Given the description of an element on the screen output the (x, y) to click on. 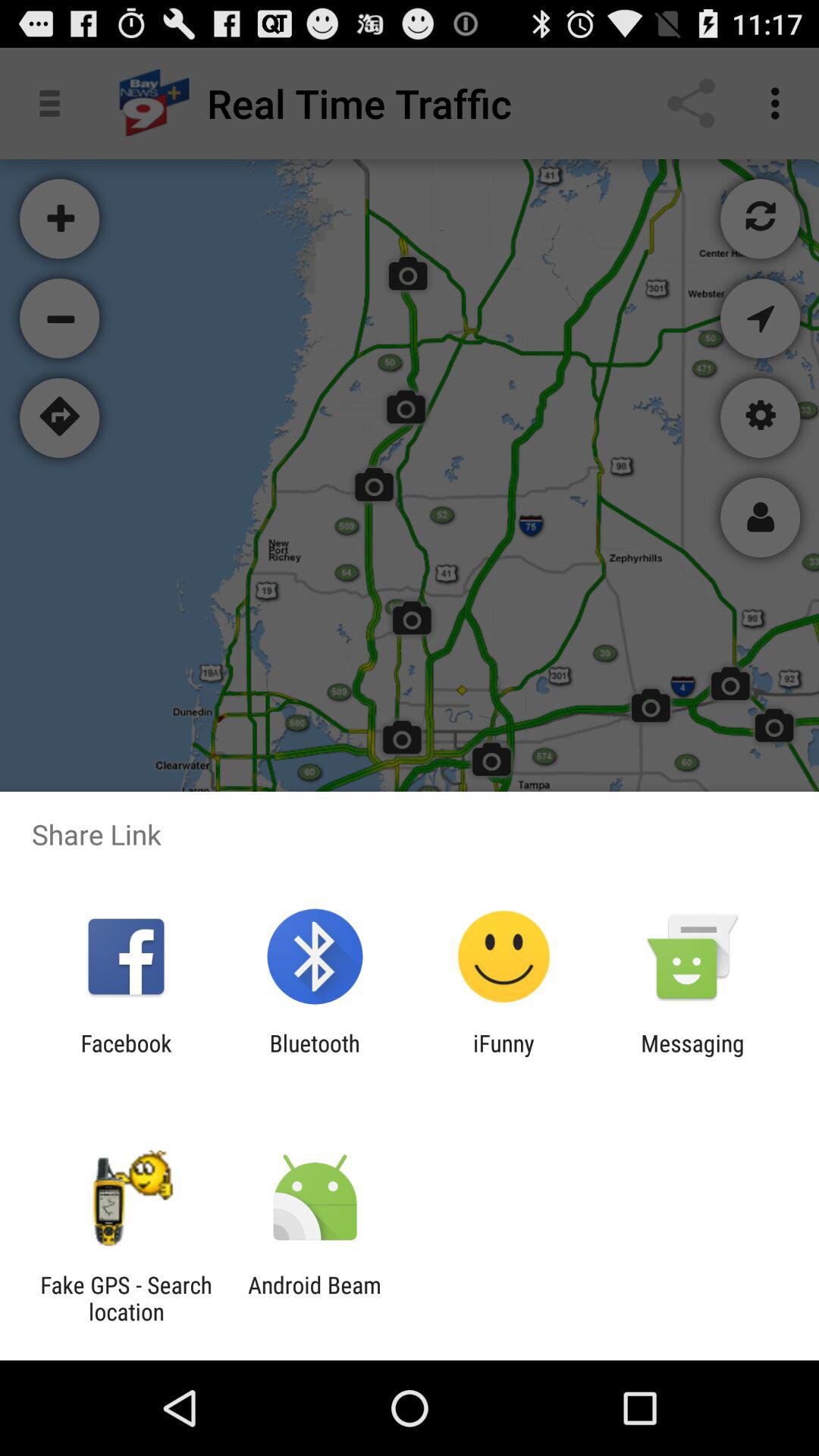
press the app to the left of ifunny (314, 1056)
